Given the description of an element on the screen output the (x, y) to click on. 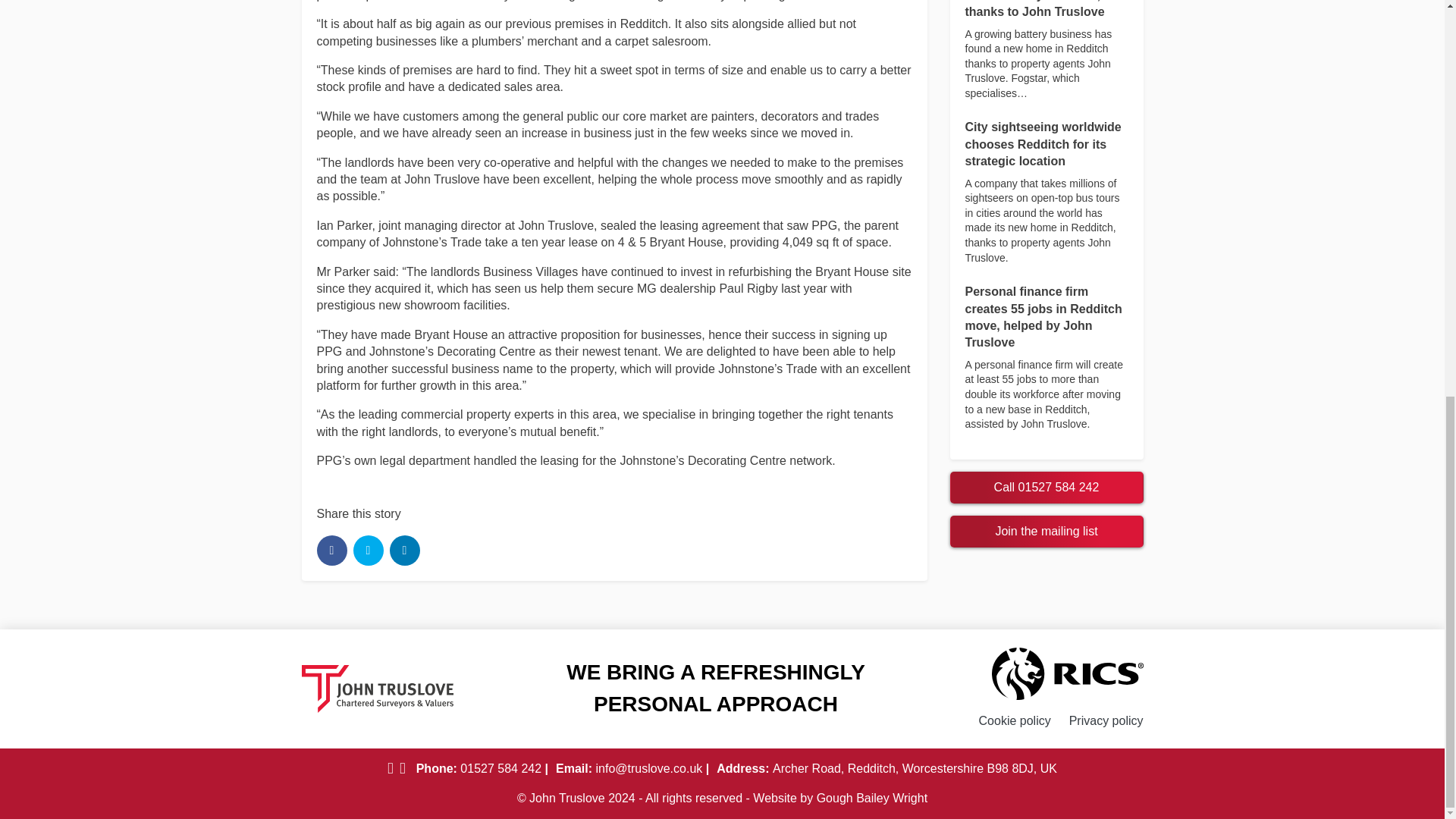
01527 584 242 (502, 768)
Cookie policy (1014, 720)
Call 01527 584 242 (1045, 487)
Join the mailing list (1045, 531)
Privacy policy (1105, 720)
